Given the description of an element on the screen output the (x, y) to click on. 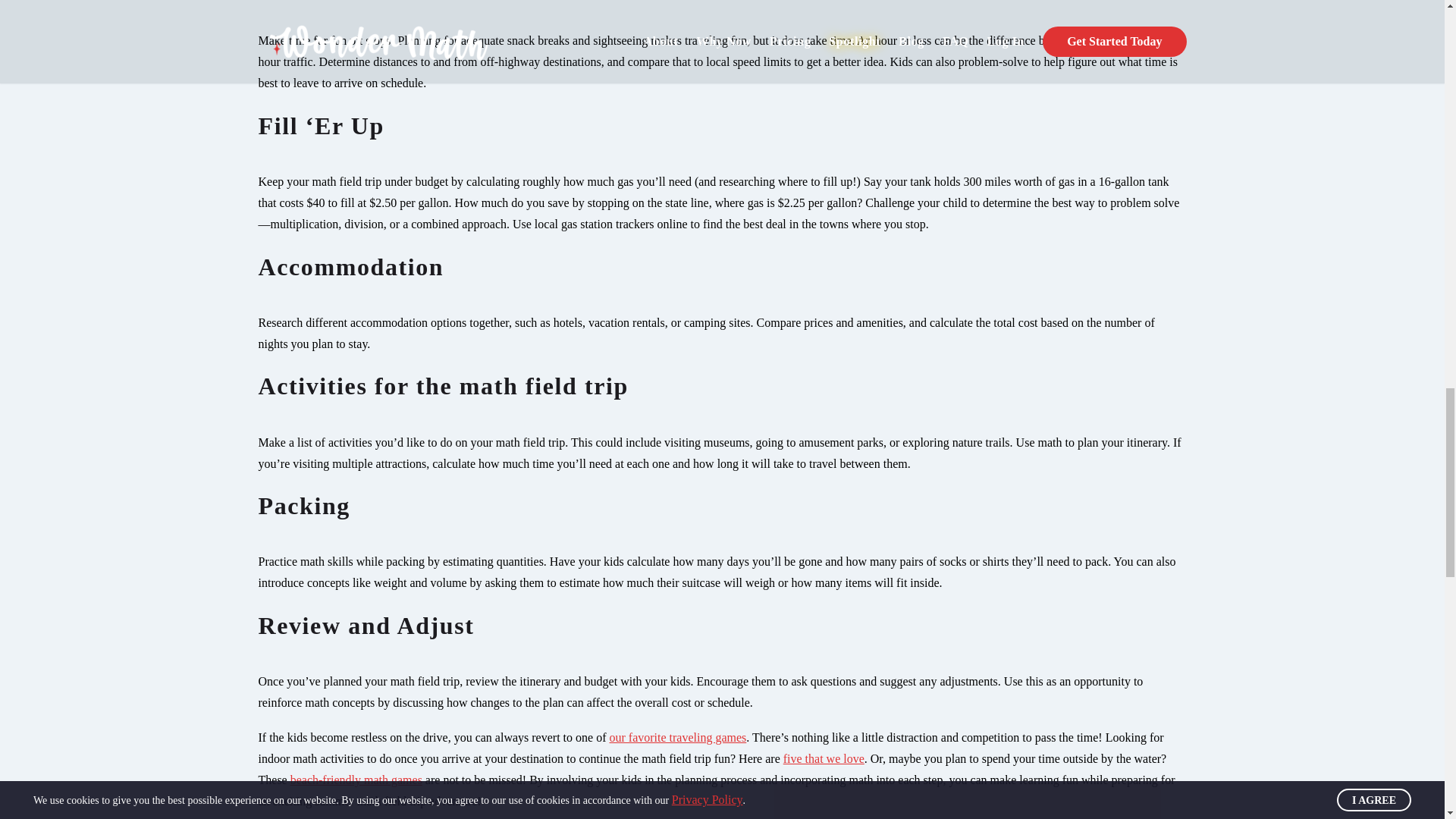
five that we love (823, 758)
our favorite traveling games (676, 737)
beach-friendly math games (355, 779)
